Given the description of an element on the screen output the (x, y) to click on. 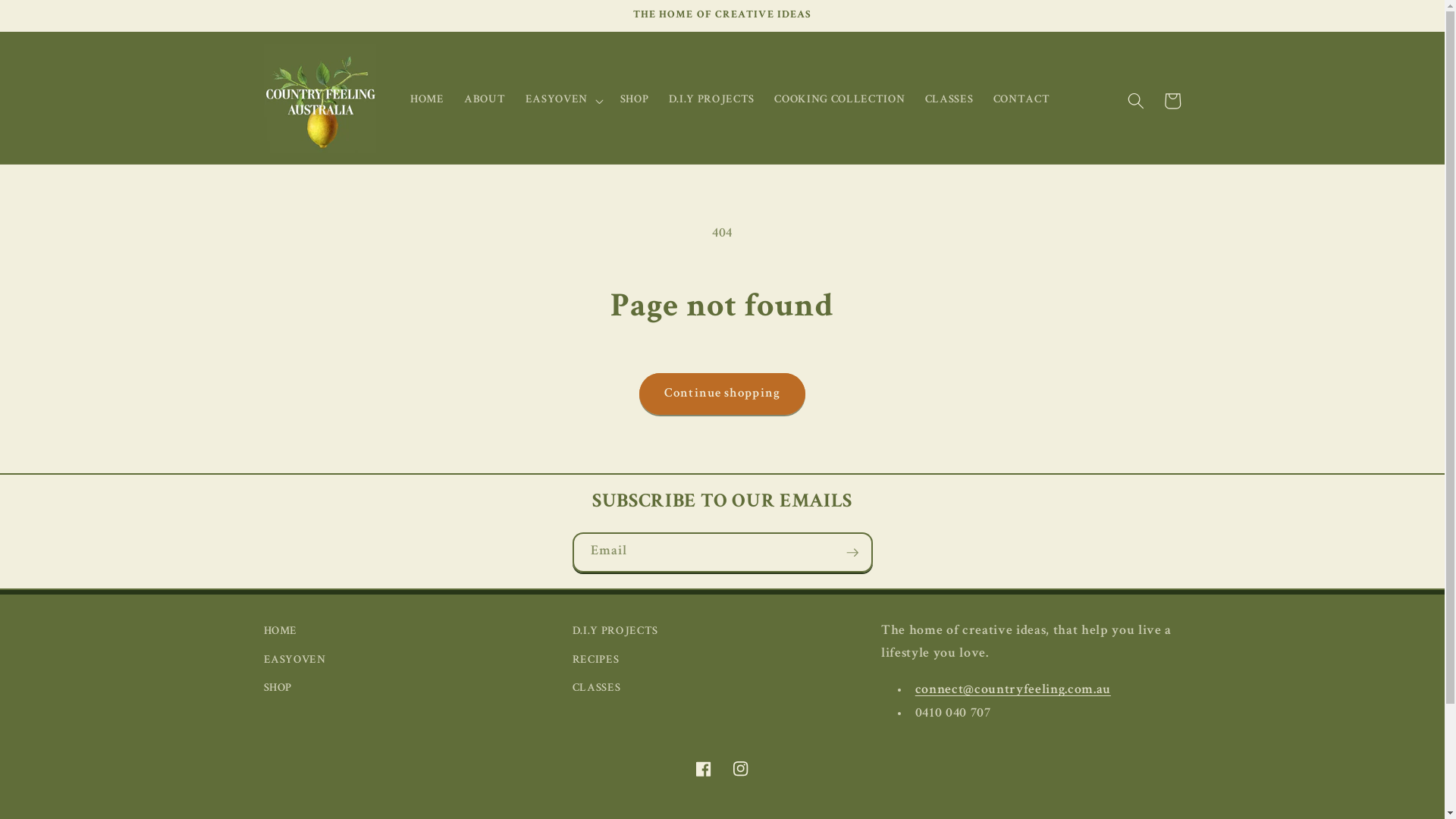
D.I.Y PROJECTS Element type: text (711, 100)
HOME Element type: text (427, 100)
connect@countryfeeling.com.au Element type: text (1012, 690)
Cart Element type: text (1172, 100)
D.I.Y PROJECTS Element type: text (615, 633)
Facebook Element type: text (703, 768)
SHOP Element type: text (634, 100)
Instagram Element type: text (739, 768)
RECIPES Element type: text (595, 660)
CONTACT Element type: text (1021, 100)
Continue shopping Element type: text (722, 394)
CLASSES Element type: text (949, 100)
EASYOVEN Element type: text (294, 660)
SHOP Element type: text (277, 688)
HOME Element type: text (280, 633)
COOKING COLLECTION Element type: text (839, 100)
CLASSES Element type: text (596, 688)
ABOUT Element type: text (484, 100)
